Given the description of an element on the screen output the (x, y) to click on. 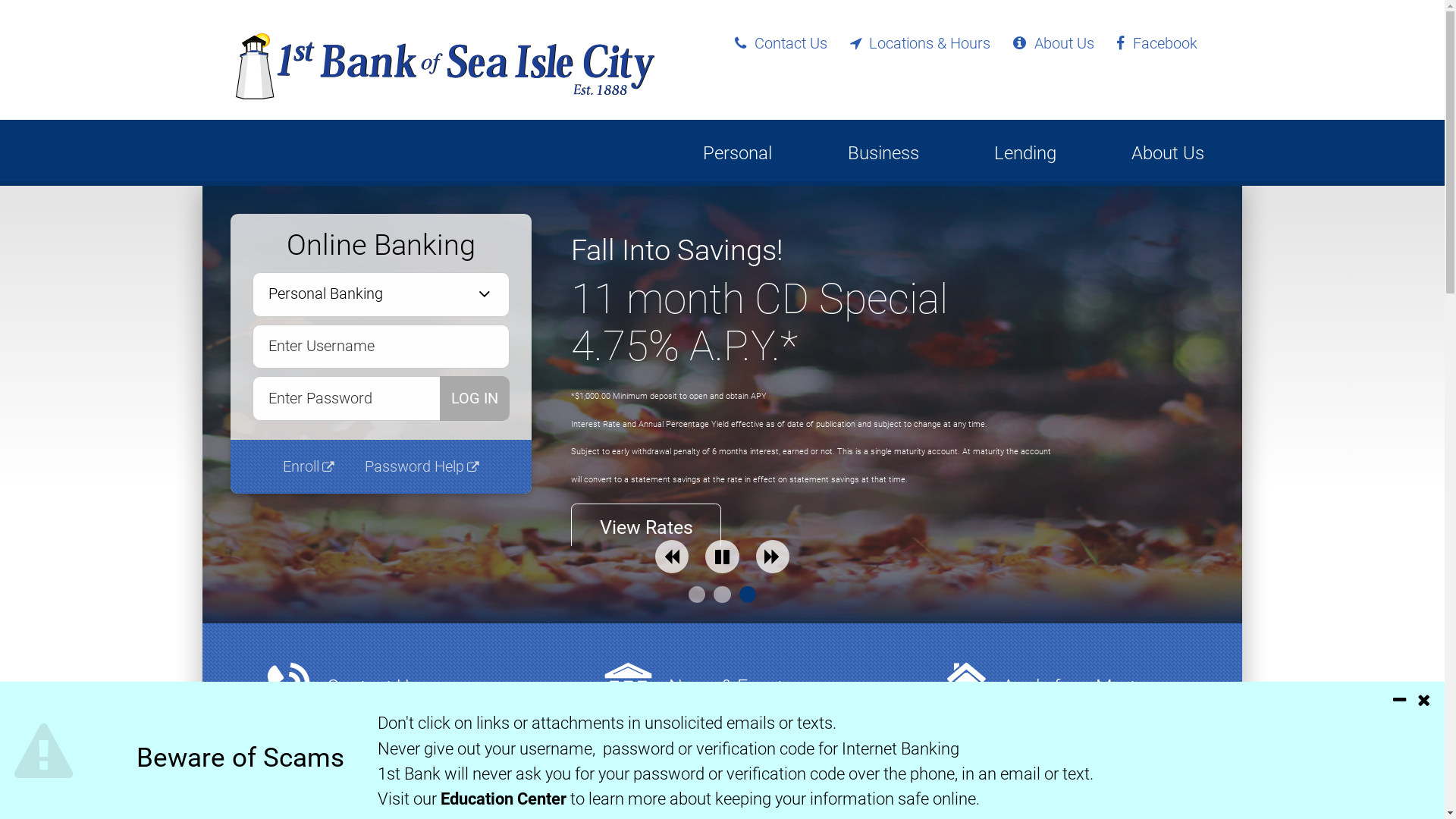
Previous Slide Element type: text (671, 556)
1
CardControls A better card experience at your fingertips. Element type: text (696, 594)
Next Slide Element type: text (772, 556)
Facebook Element type: text (1156, 43)
Enroll Element type: text (308, 466)
View Rates Element type: text (646, 527)
Pause Slideshow Element type: text (721, 556)
Locations & Hours Element type: text (919, 43)
News & Events Element type: text (730, 686)
3
Fall Into Savings! 11 month CD Special 4.75% A.P.Y.* Element type: text (747, 594)
Education Center Element type: text (503, 798)
Password Help Element type: text (421, 466)
Apply for a Mortgage Element type: text (1089, 686)
LOG IN Element type: text (473, 398)
Contact Us Element type: text (780, 43)
About Us Element type: text (1052, 43)
Contact Us Element type: text (372, 686)
